Given the description of an element on the screen output the (x, y) to click on. 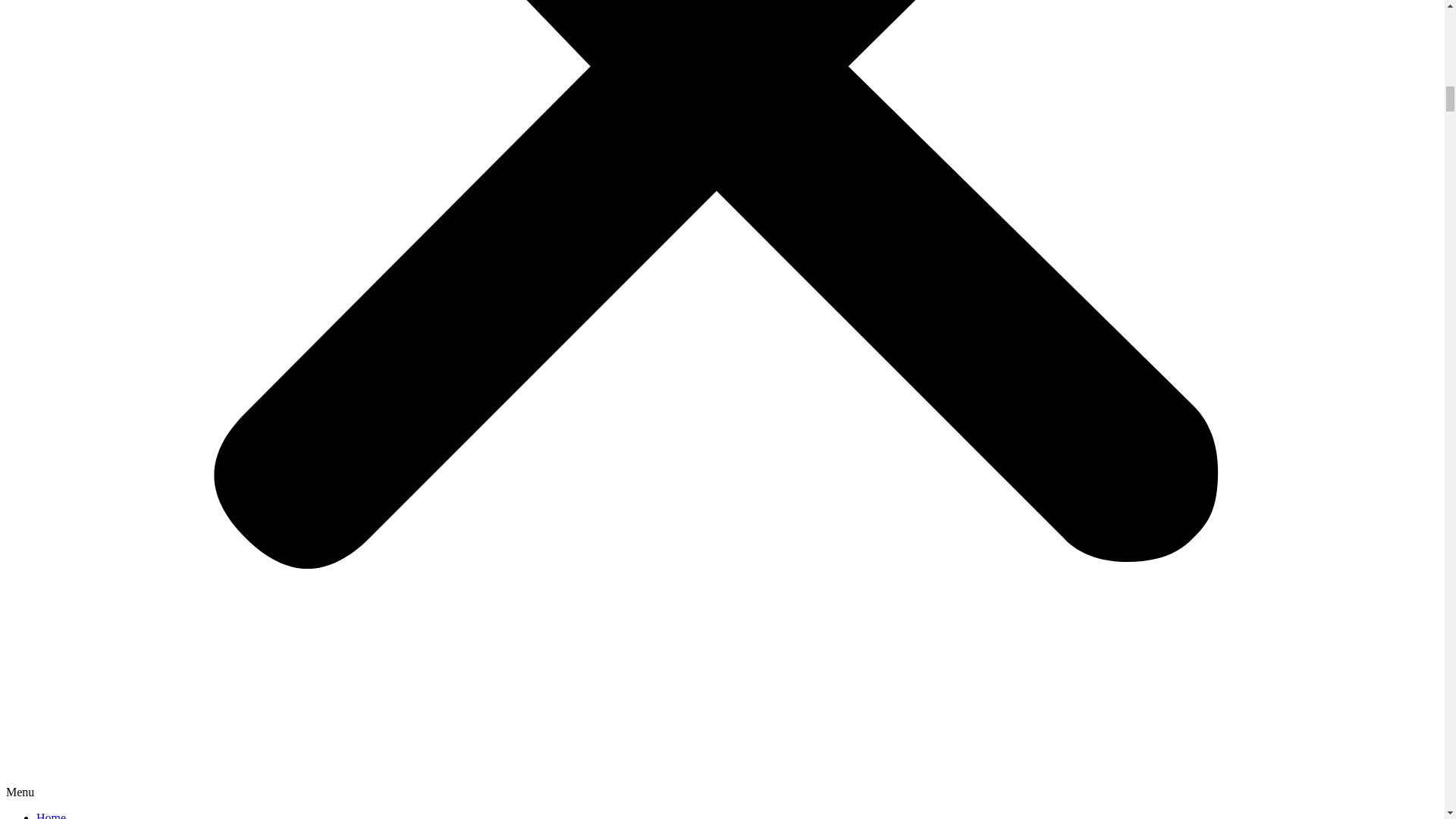
Home (50, 815)
